Given the description of an element on the screen output the (x, y) to click on. 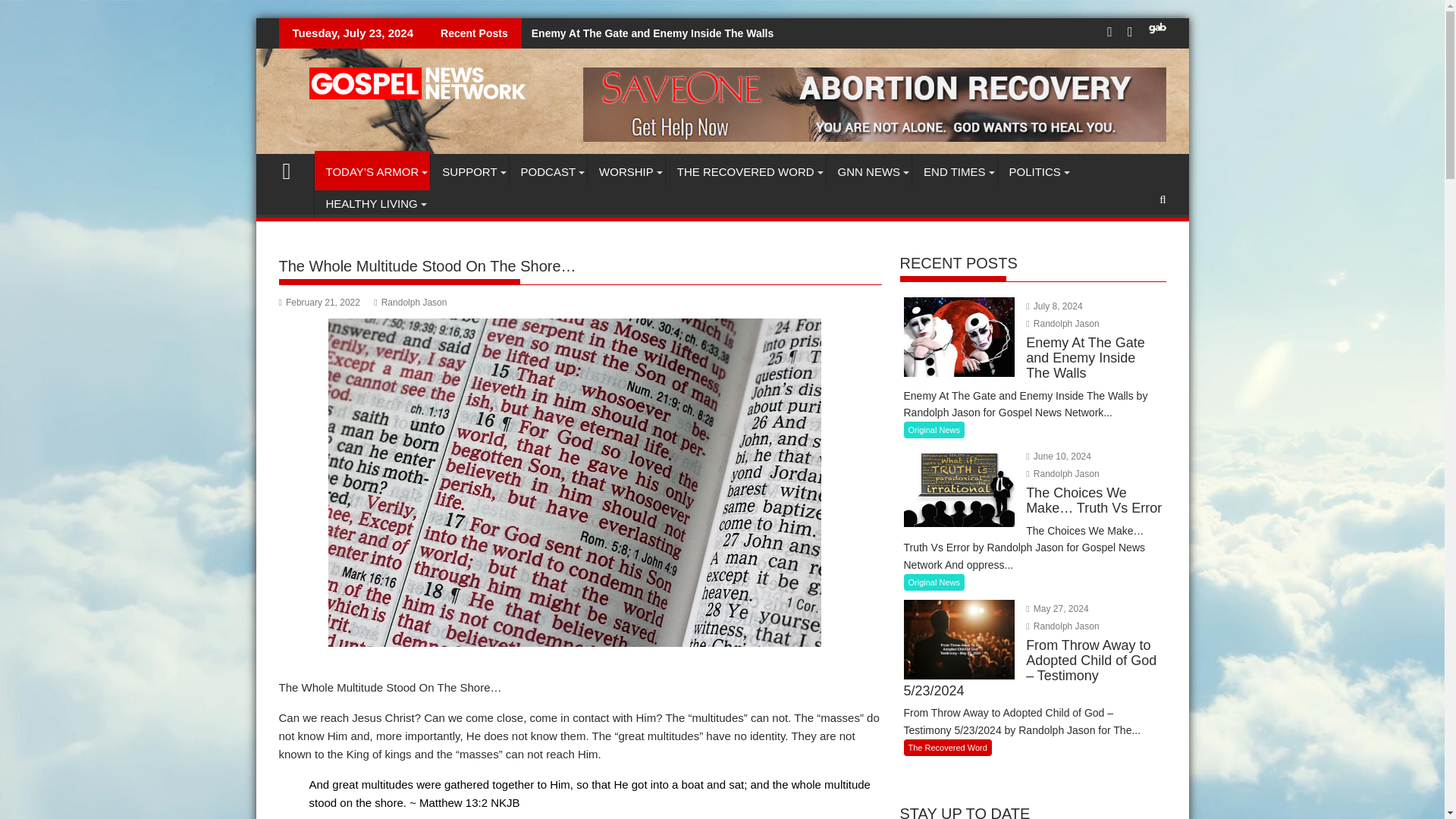
Enemy At The Gate and Enemy Inside The Walls (647, 33)
Randolph Jason (1062, 473)
Randolph Jason (1062, 323)
SUPPORT (469, 171)
Gospel News Network (293, 169)
THE RECOVERED WORD (745, 171)
END TIMES (953, 171)
GNN NEWS (869, 171)
Enemy At The Gate and Enemy Inside The Walls (647, 33)
WORSHIP (626, 171)
PODCAST (548, 171)
Randolph Jason (1062, 625)
